Given the description of an element on the screen output the (x, y) to click on. 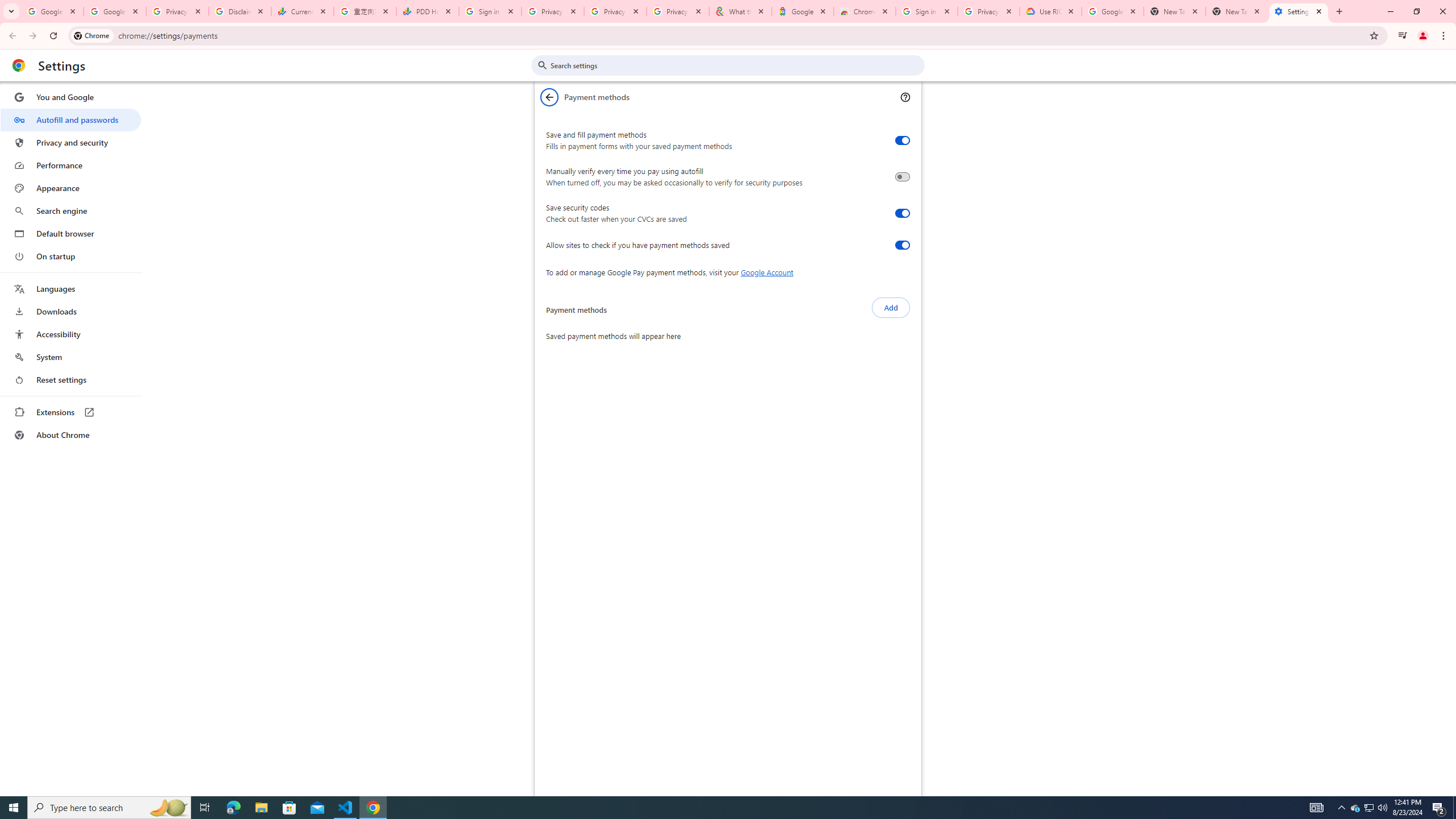
Search engine (70, 210)
AutomationID: menu (71, 265)
Chrome Web Store - Color themes by Chrome (864, 11)
Currencies - Google Finance (302, 11)
Downloads (70, 311)
Privacy and security (70, 142)
New Tab (1236, 11)
You and Google (70, 96)
